Given the description of an element on the screen output the (x, y) to click on. 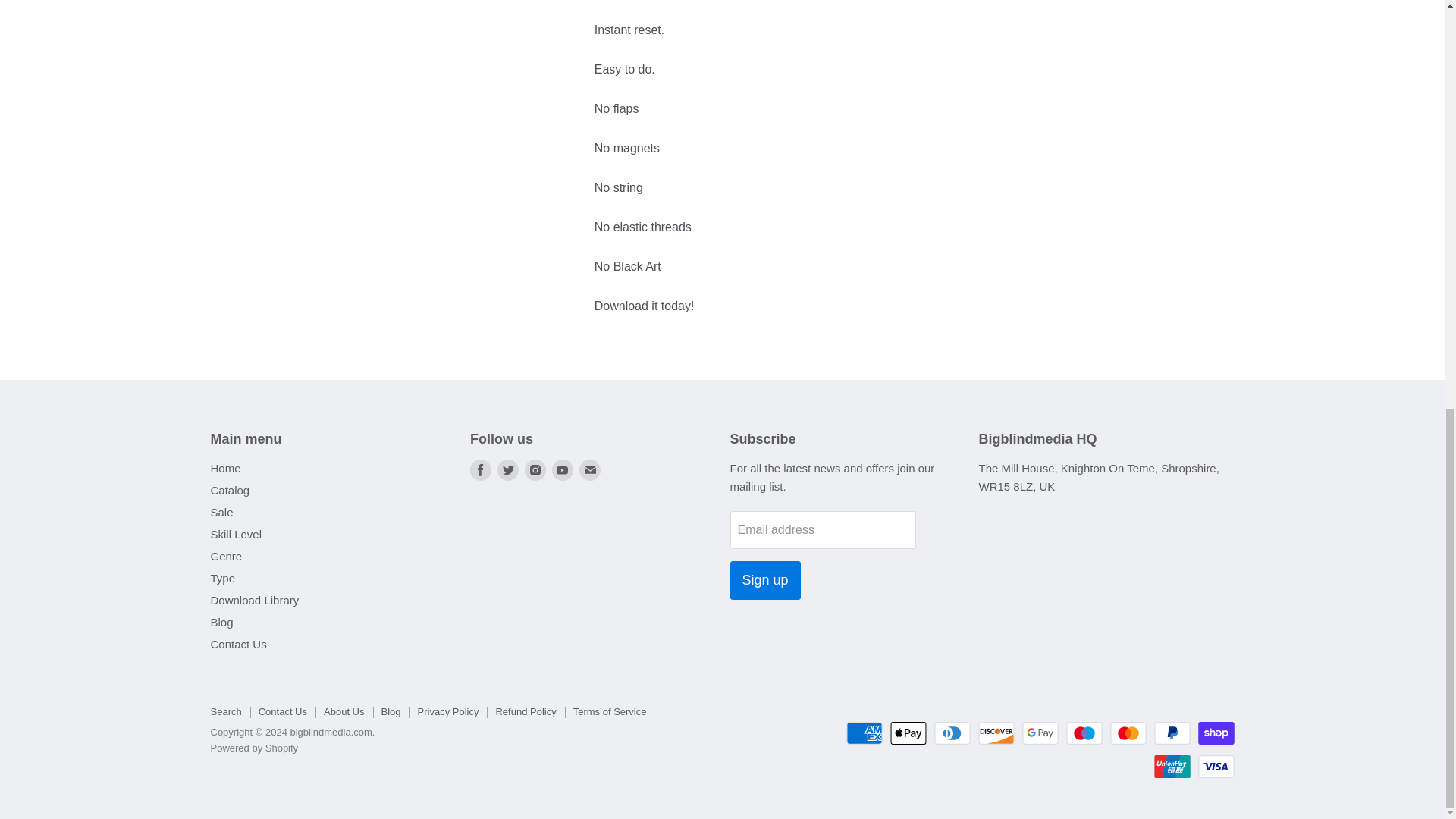
Twitter (507, 469)
Apple Pay (907, 732)
American Express (863, 732)
E-mail (589, 469)
Facebook (481, 469)
Youtube (562, 469)
Instagram (535, 469)
